Given the description of an element on the screen output the (x, y) to click on. 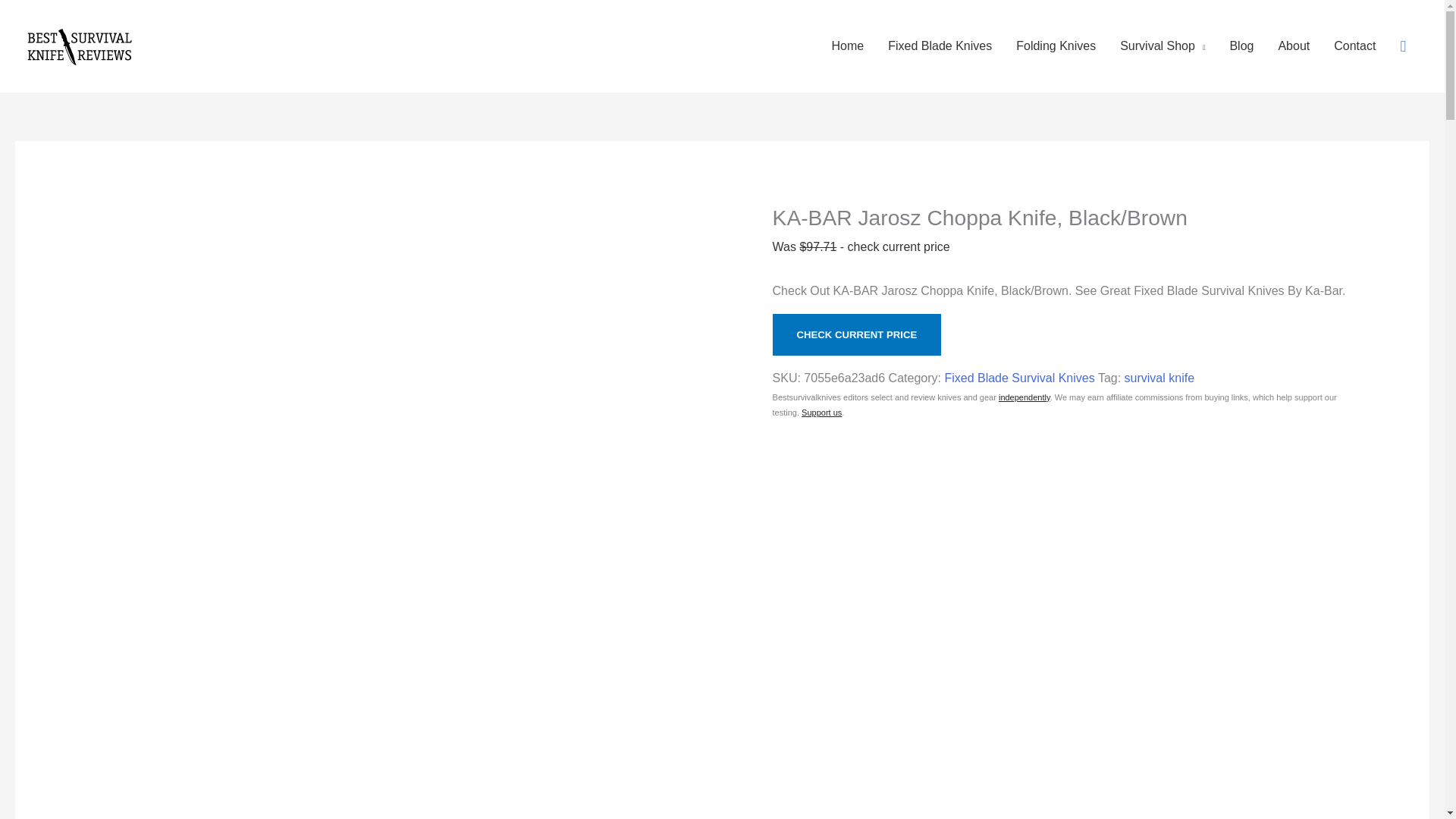
Home (847, 46)
About (1293, 46)
Blog (1241, 46)
independently (1023, 397)
Survival Shop (1162, 46)
CHECK CURRENT PRICE (857, 334)
Fixed Blade Survival Knives (1018, 377)
